Given the description of an element on the screen output the (x, y) to click on. 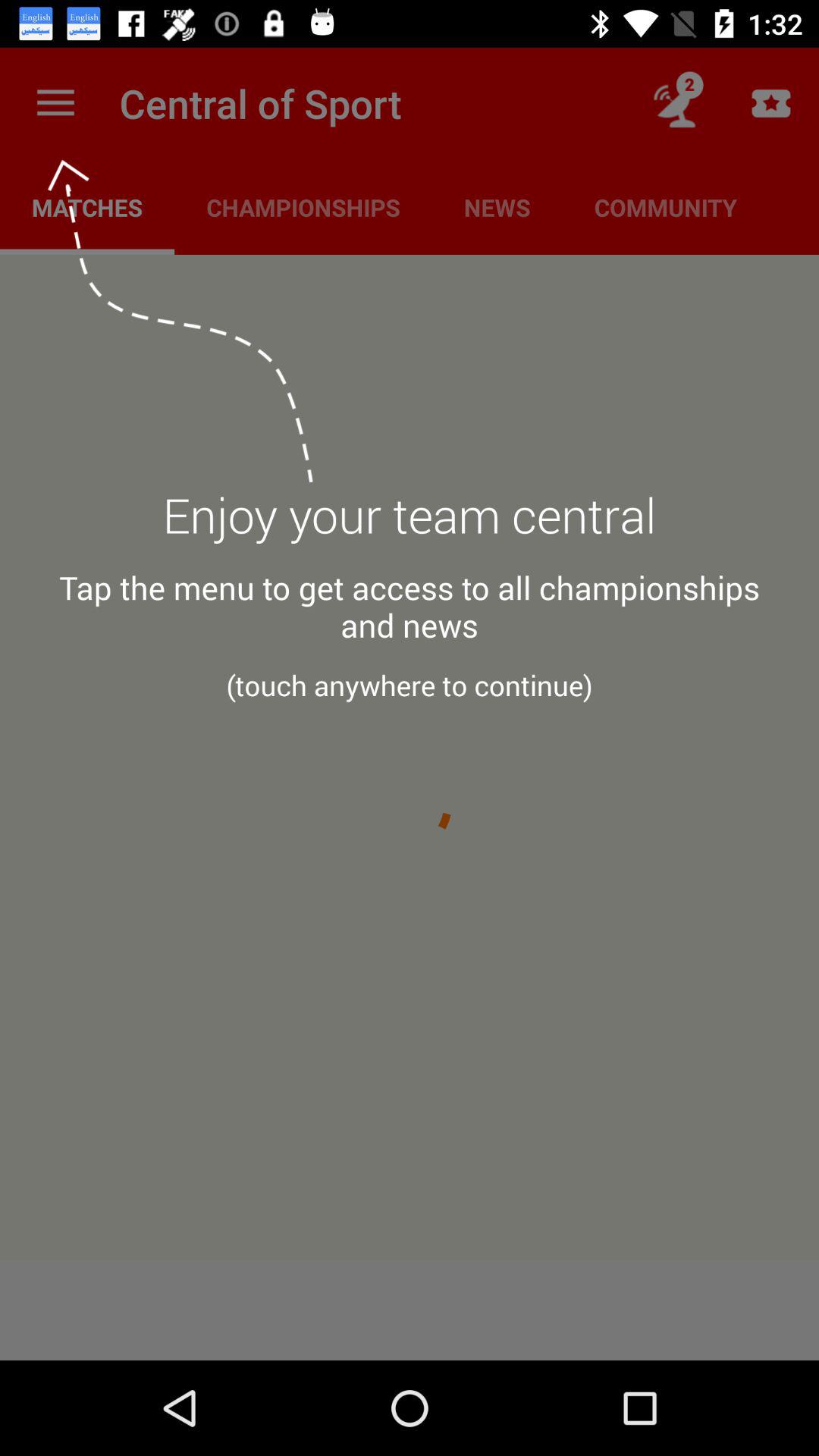
turn on enjoy your team icon (409, 524)
